Given the description of an element on the screen output the (x, y) to click on. 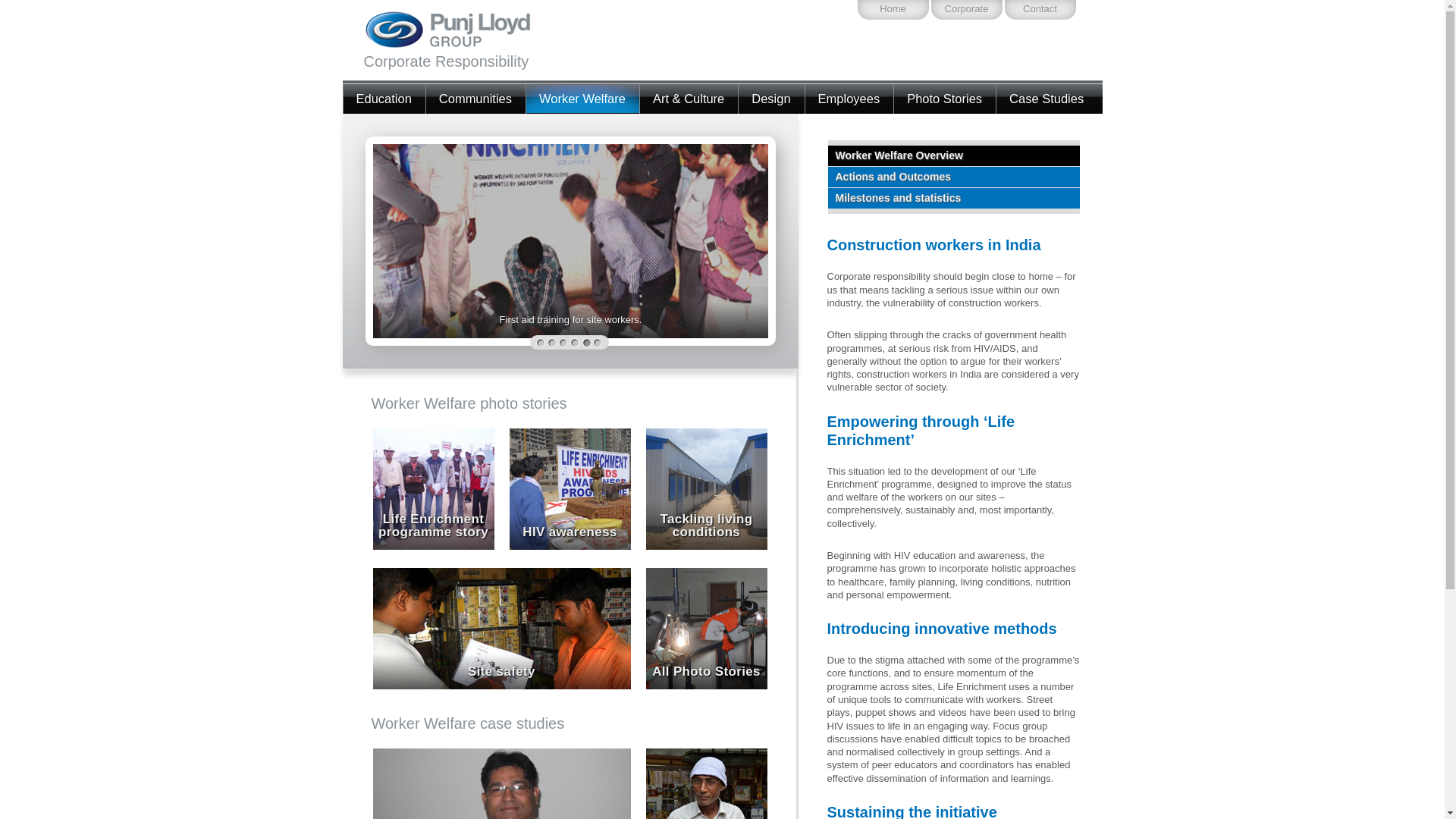
Education (383, 98)
Worker Welfare (582, 99)
Photo Stories (944, 98)
Corporate (967, 9)
Corporate Responsibility (470, 41)
Employees (849, 98)
Contact (1039, 9)
Photo Stories (944, 98)
Corporate Responsibility (470, 41)
Worker Welfare (582, 99)
Communities (475, 98)
Design (770, 98)
Case Studies (1046, 98)
Home (892, 9)
